Given the description of an element on the screen output the (x, y) to click on. 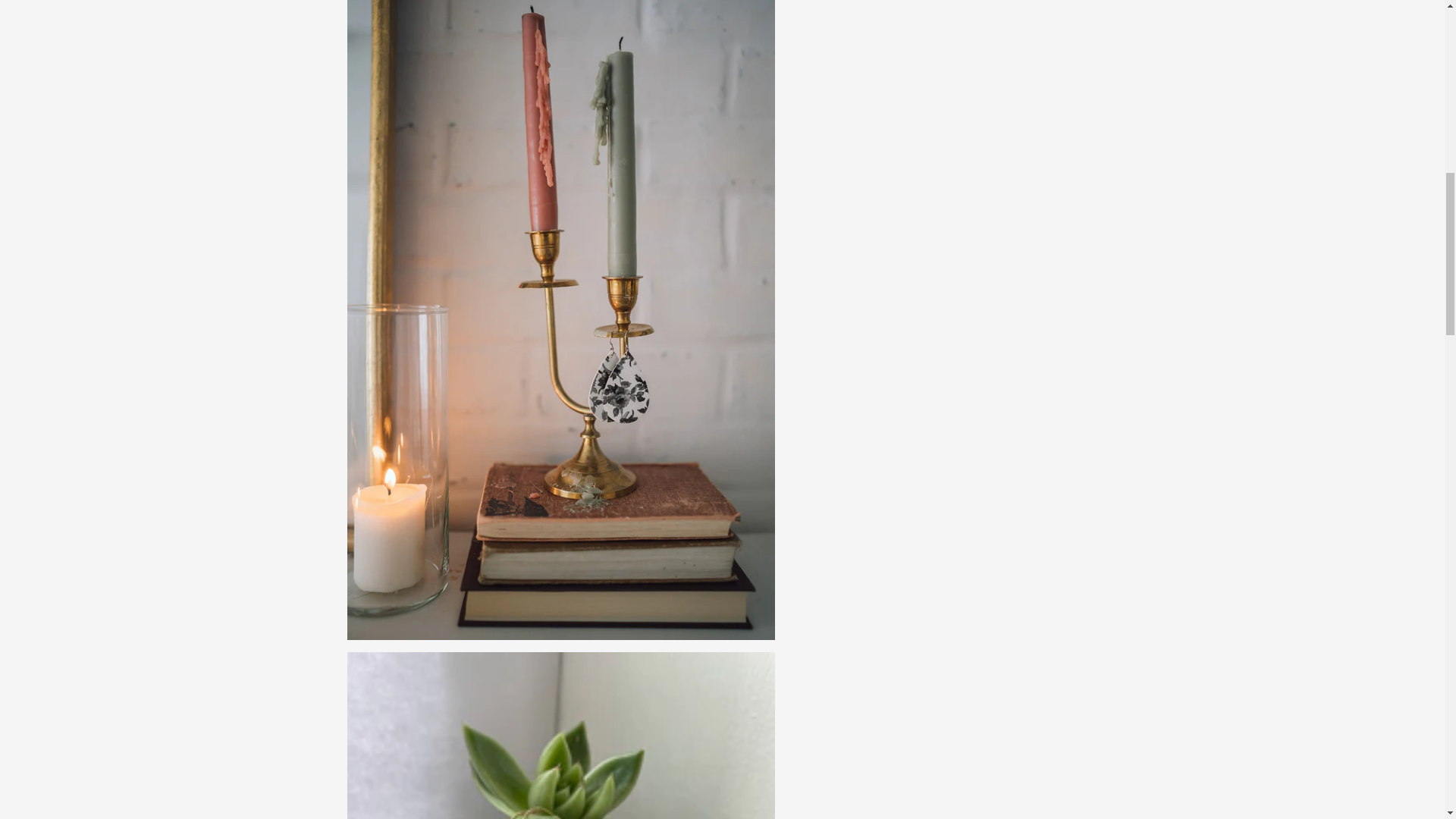
Share on Facebook (890, 3)
Tweet on Twitter (944, 3)
Pin on Pinterest (998, 3)
